Given the description of an element on the screen output the (x, y) to click on. 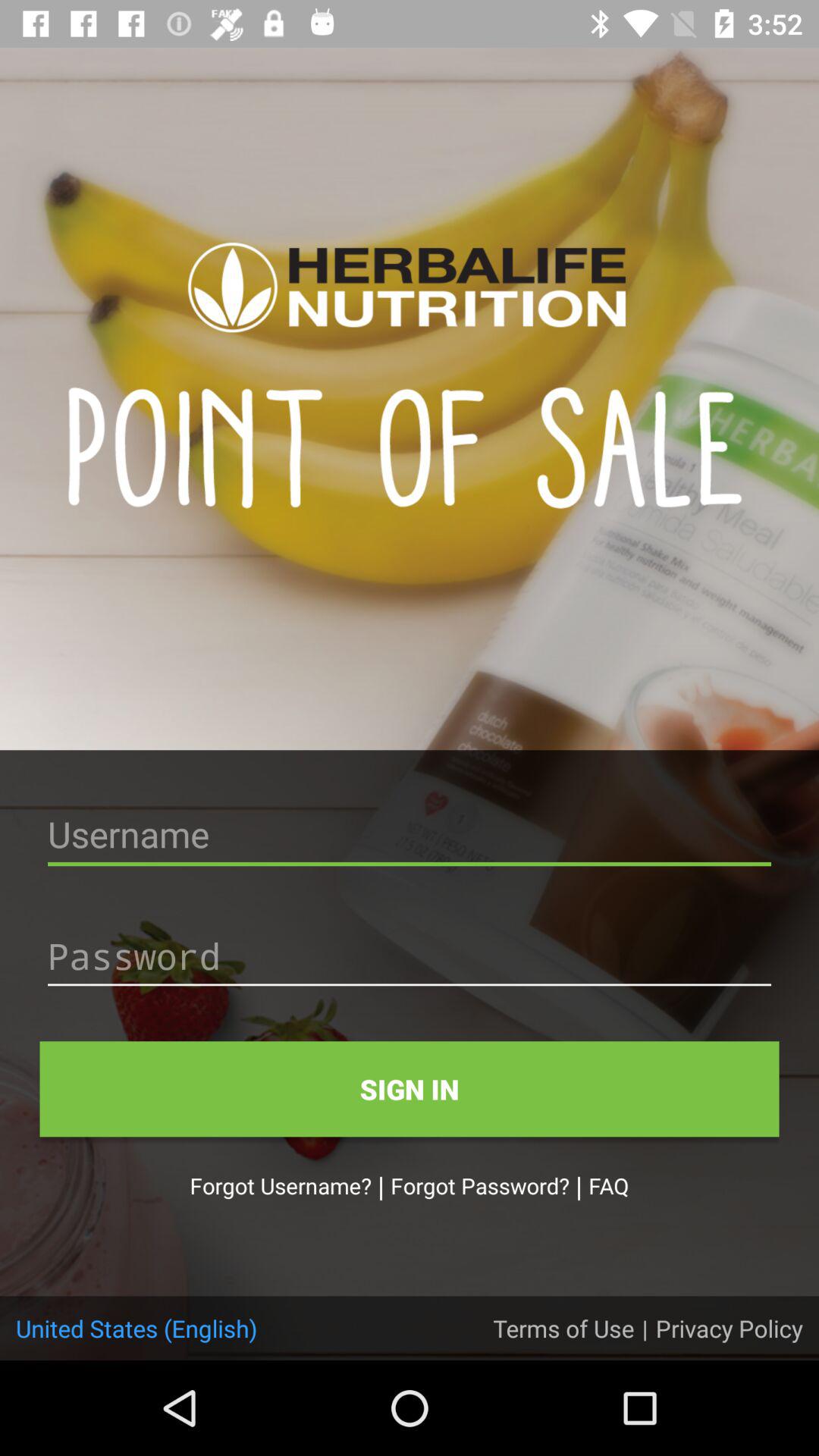
turn on the item next to the united states (english) (563, 1328)
